Given the description of an element on the screen output the (x, y) to click on. 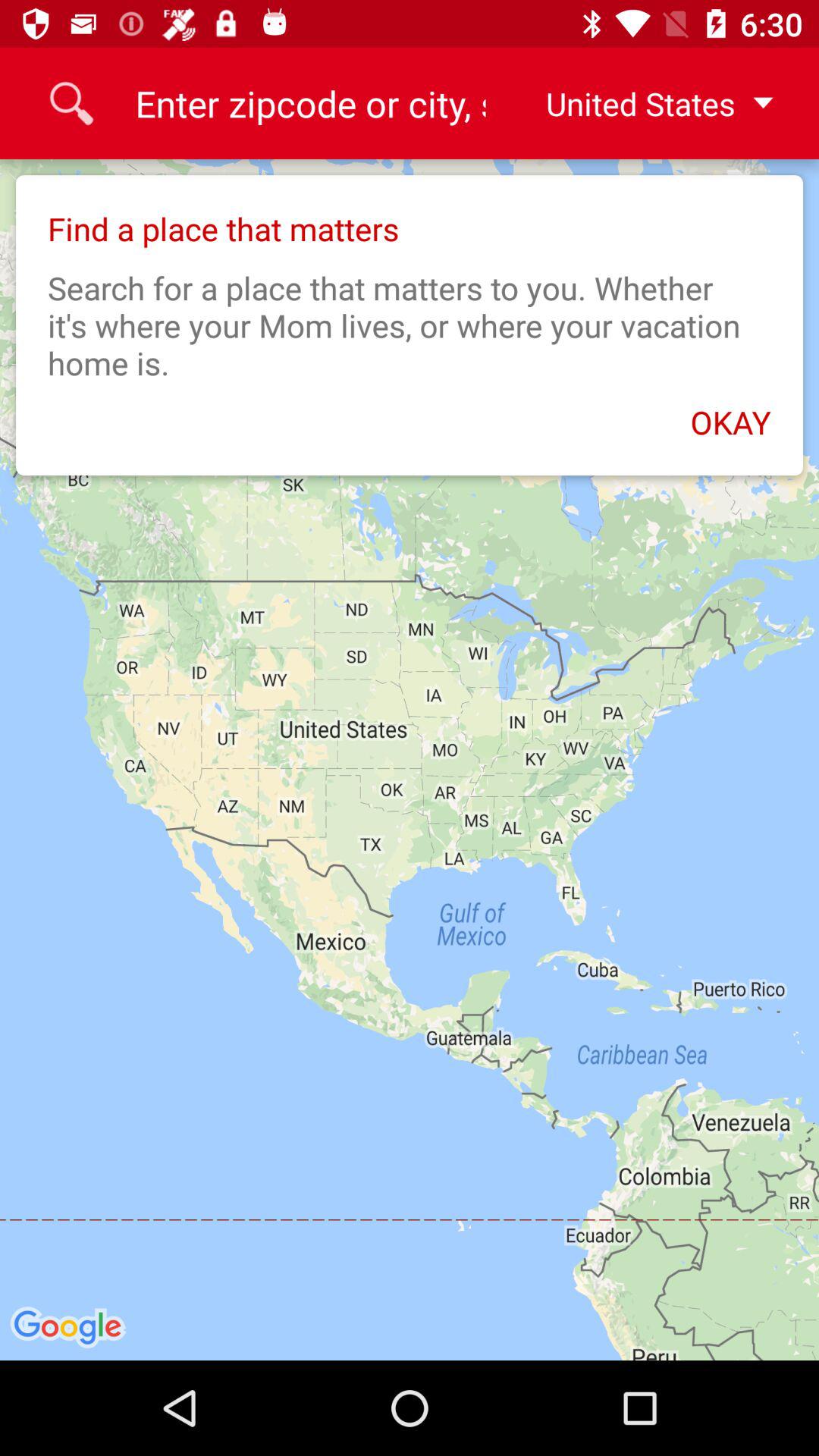
choose icon below search for a (409, 413)
